Given the description of an element on the screen output the (x, y) to click on. 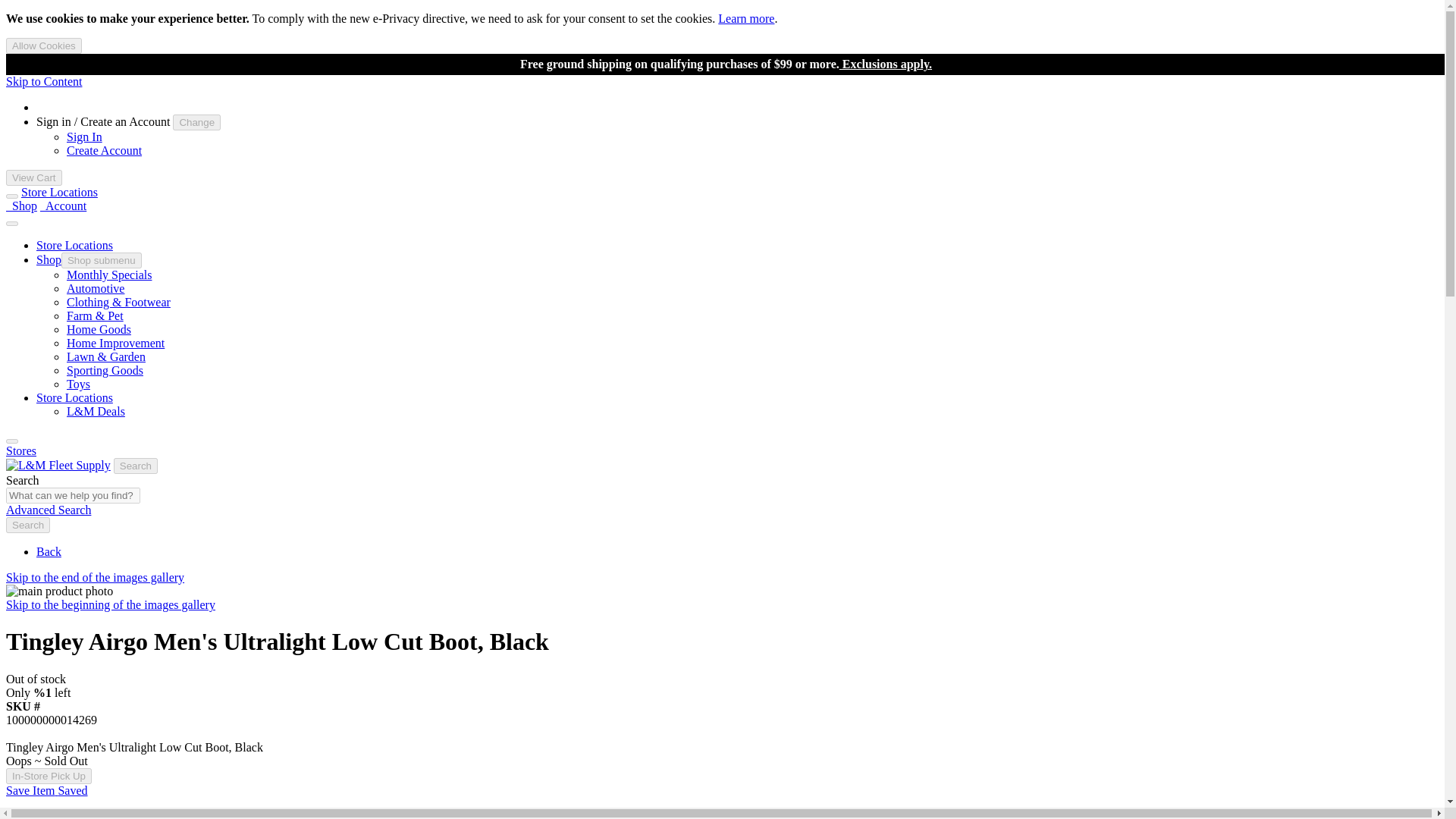
Allow Cookies (43, 45)
Change (197, 122)
Sign In (83, 136)
Store Locations (59, 192)
Create Account (103, 150)
Exclusions apply. (885, 63)
Automotive (94, 287)
Store Locations (74, 397)
Store Locations (74, 245)
